Given the description of an element on the screen output the (x, y) to click on. 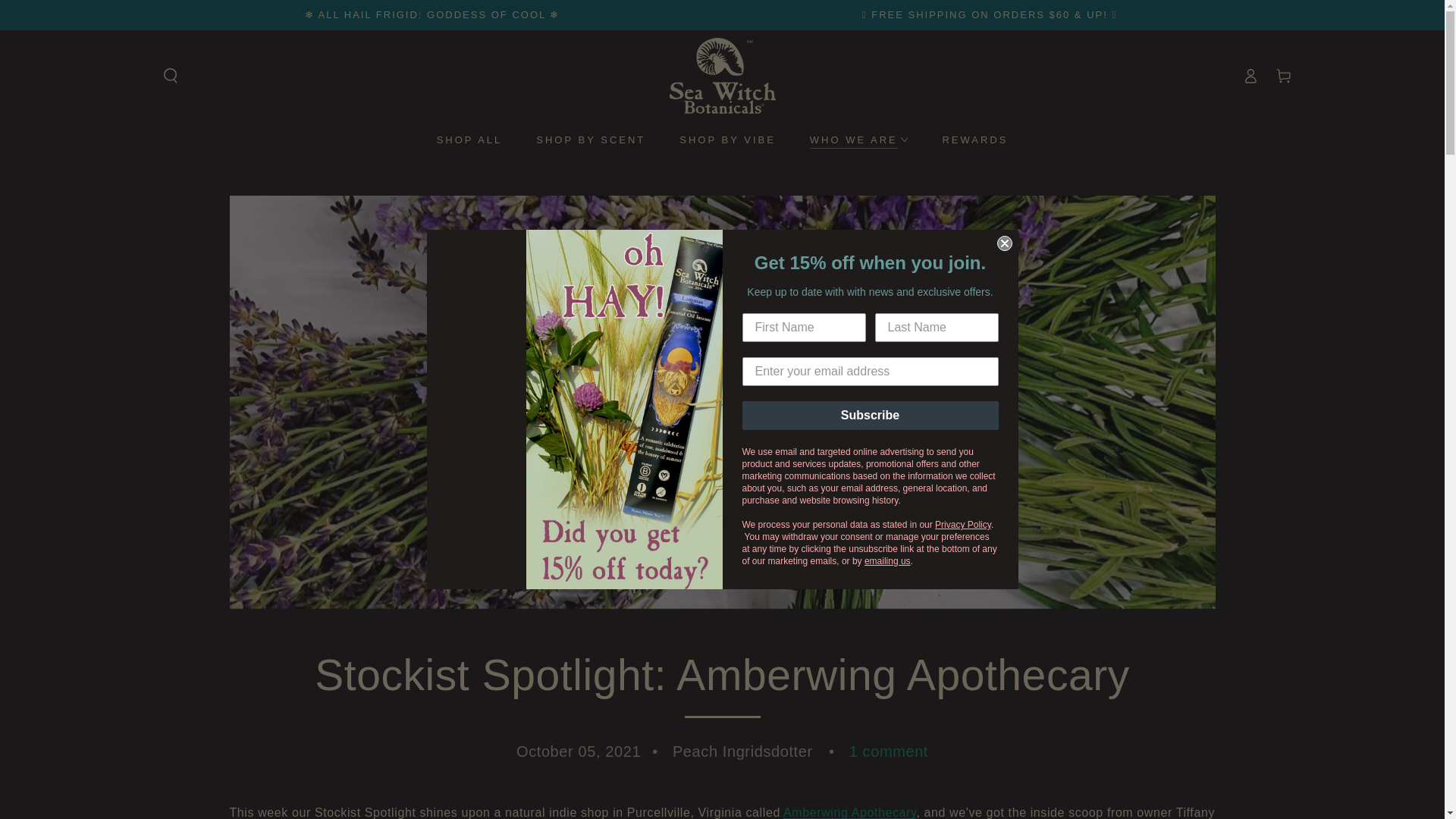
Amberwing Apothecary website (849, 812)
SKIP TO CONTENT (67, 14)
